Given the description of an element on the screen output the (x, y) to click on. 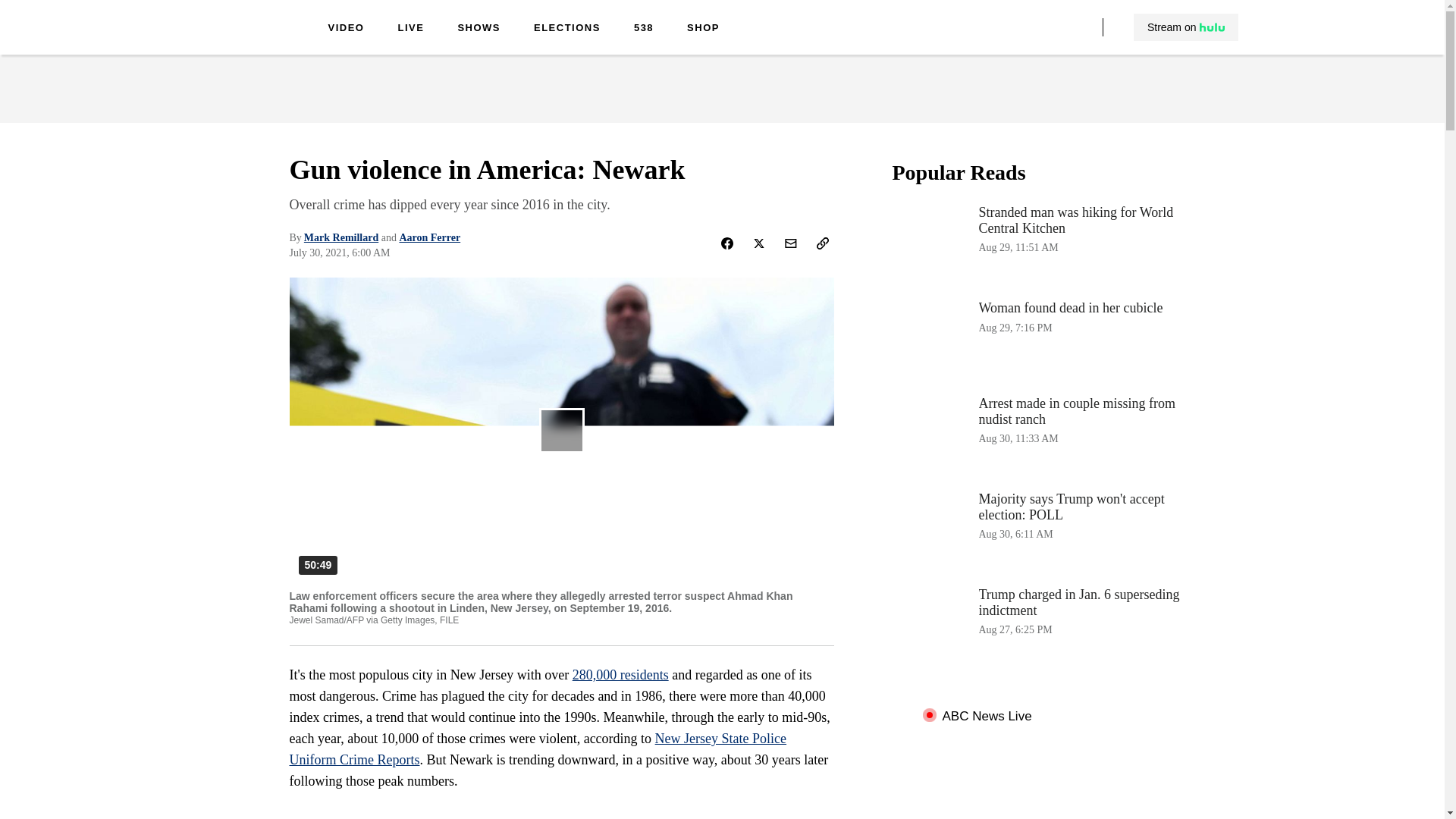
ABC News (250, 38)
Aaron Ferrer (429, 237)
VIDEO (345, 28)
Stream on (1185, 27)
538 (643, 28)
LIVE (410, 28)
Mark Remillard (341, 237)
ELECTIONS (566, 28)
SHOP (703, 28)
New Jersey State Police Uniform Crime Reports (538, 749)
